Given the description of an element on the screen output the (x, y) to click on. 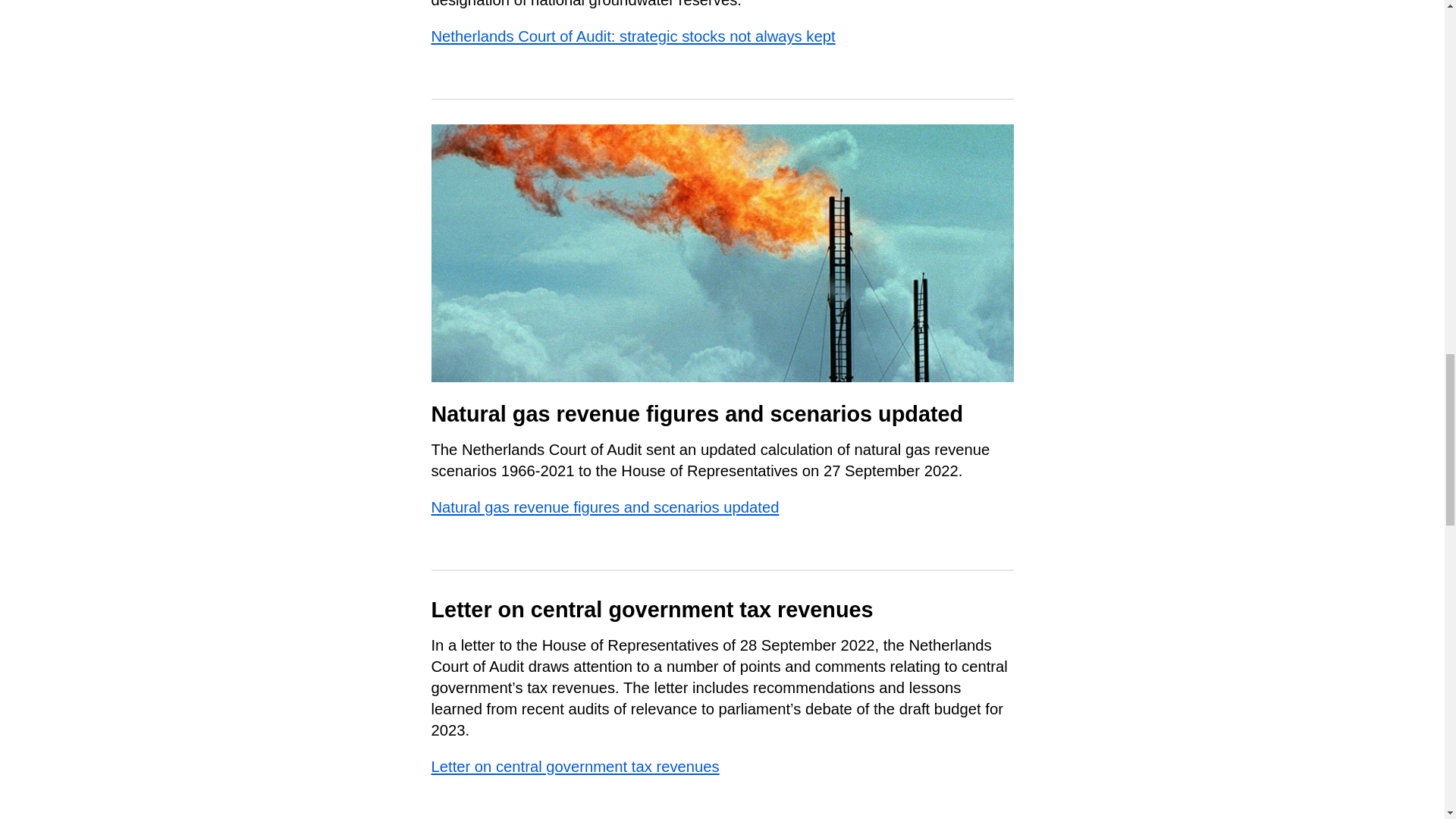
Netherlands Court of Audit: strategic stocks not always kept (632, 36)
Letter on central government tax revenues (574, 766)
Natural gas revenue figures and scenarios updated (604, 506)
